Given the description of an element on the screen output the (x, y) to click on. 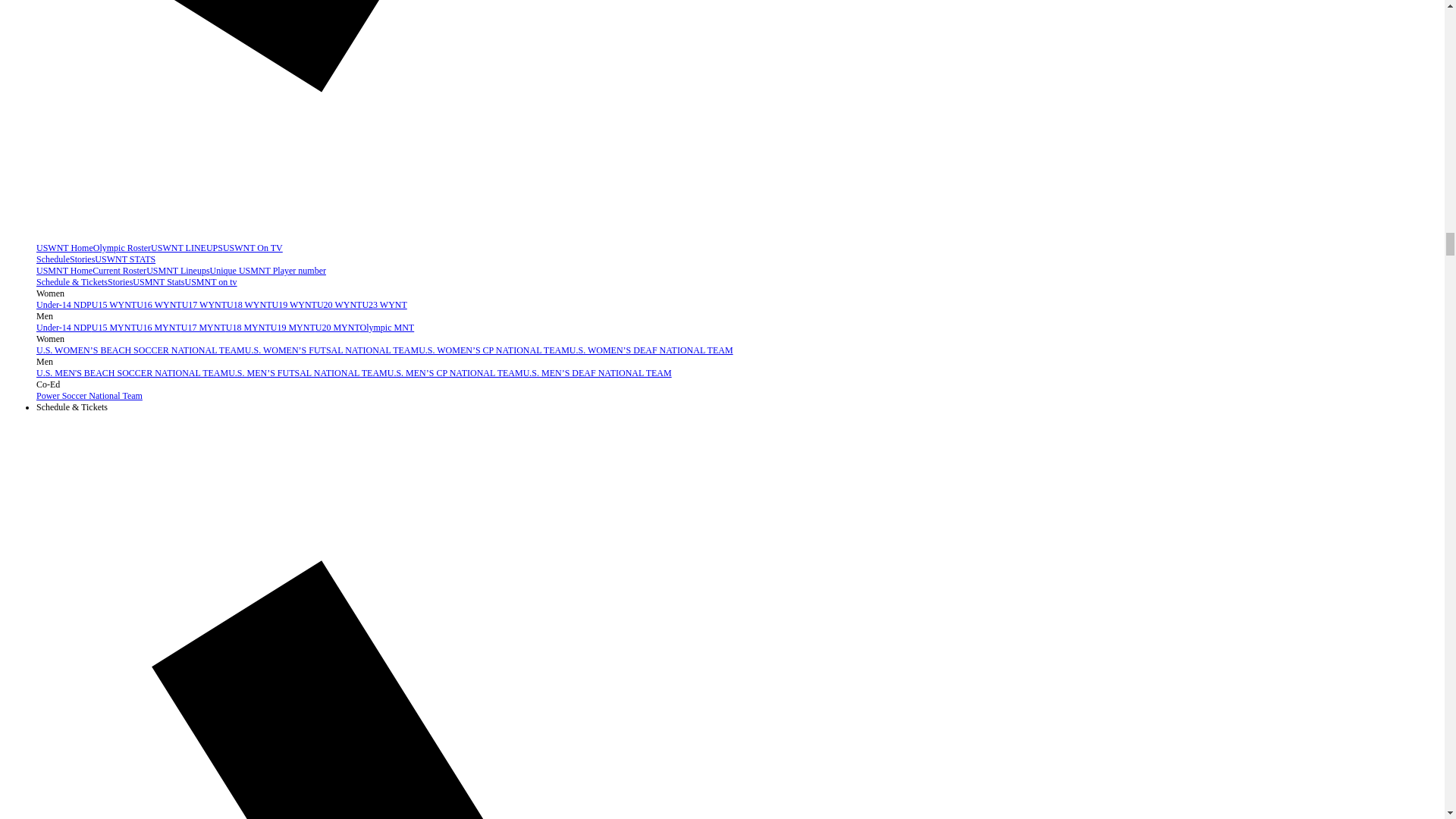
U17 MYNT (202, 327)
USMNT Home (64, 270)
U16 MYNT (158, 327)
U16 WYNT (158, 304)
U18 WYNT (248, 304)
U17 WYNT (204, 304)
USWNT STATS (124, 258)
Stories (81, 258)
U15 WYNT (113, 304)
Current Roster (120, 270)
USMNT Stats (158, 281)
Unique USMNT Player number (267, 270)
Olympic Roster (122, 247)
Under-14 NDP (63, 304)
USWNT Home (64, 247)
